Given the description of an element on the screen output the (x, y) to click on. 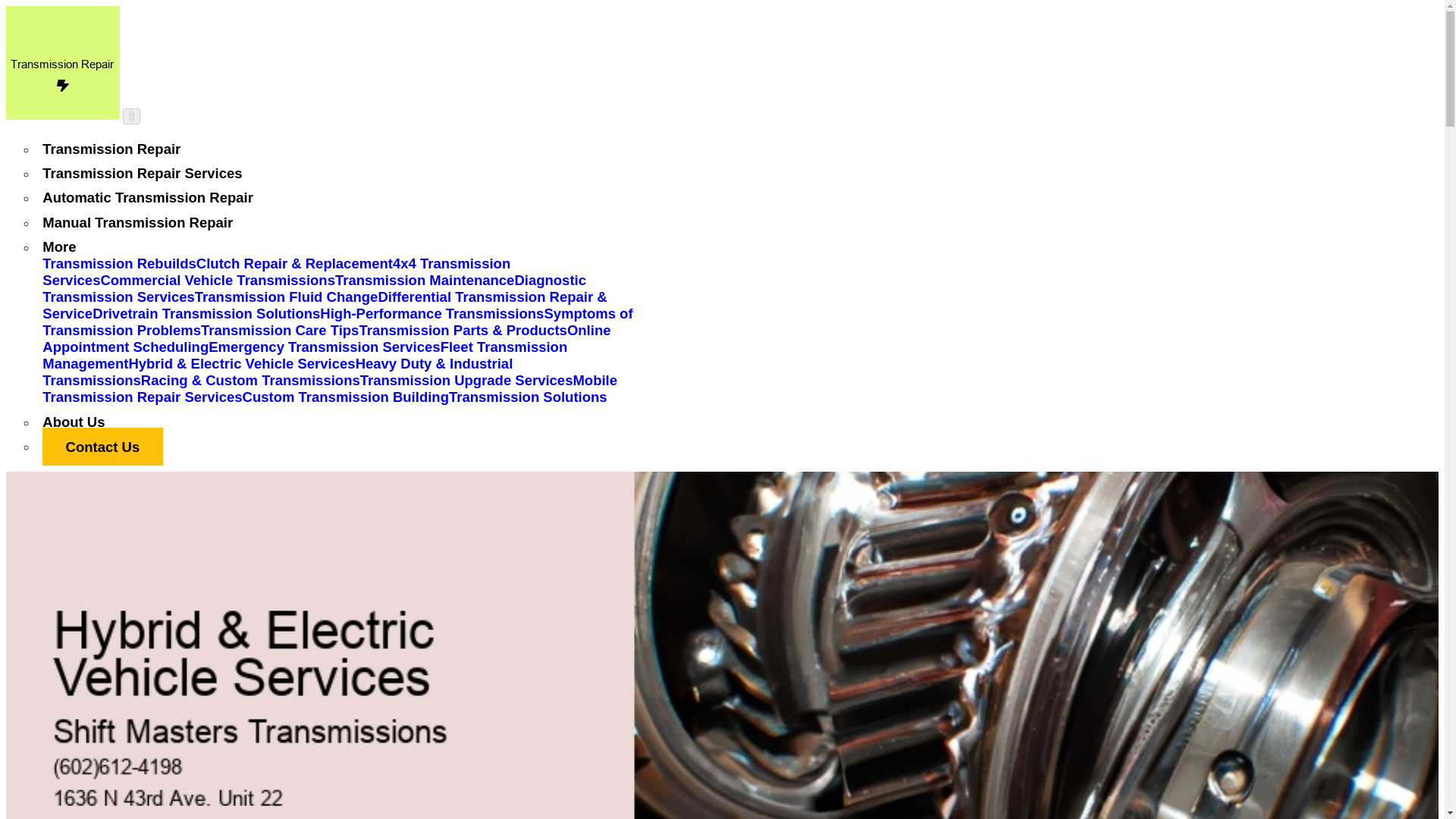
Manual Transmission Repair (137, 222)
Automatic Transmission Repair (147, 197)
Transmission Fluid Change (286, 296)
High-Performance Transmissions (431, 313)
Online Appointment Scheduling (326, 338)
Transmission Rebuilds (119, 263)
Mobile Transmission Repair Services (329, 388)
Emergency Transmission Services (323, 346)
Commercial Vehicle Transmissions (217, 279)
4x4 Transmission Services (276, 271)
Contact Us (101, 446)
Transmission Repair (111, 148)
About Us (73, 421)
Custom Transmission Building (345, 396)
Symptoms of Transmission Problems (336, 321)
